Given the description of an element on the screen output the (x, y) to click on. 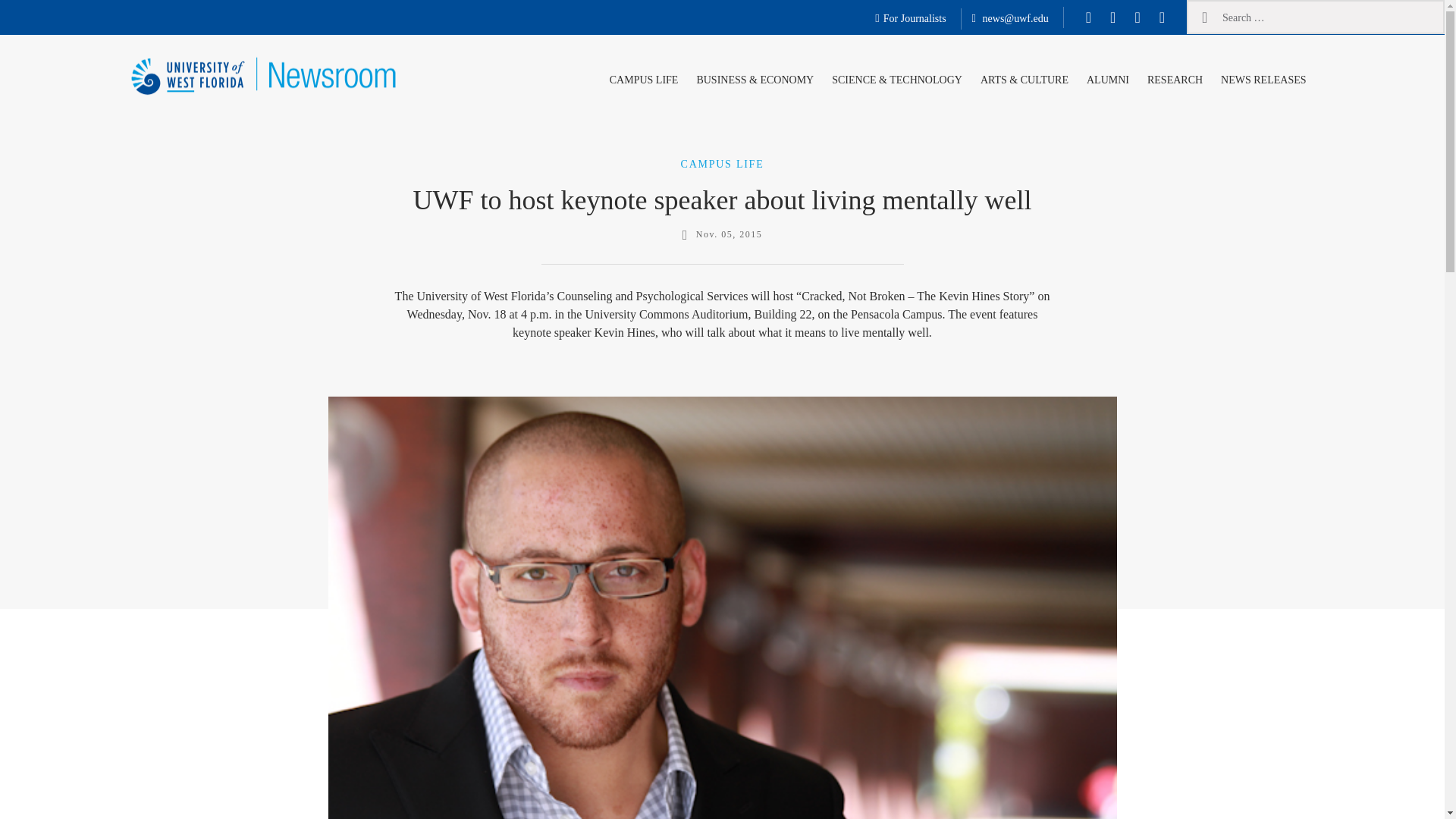
Find us on Facebook (1088, 17)
University of West Florida Newsroom (223, 124)
Contact us (1010, 19)
RESEARCH (1174, 77)
ALUMNI (1107, 77)
Connect with us on Linkedin (1161, 17)
Follow us on Instagram (1136, 17)
For Journalists (909, 19)
For Journalists (909, 19)
NEWS RELEASES (1262, 77)
